Given the description of an element on the screen output the (x, y) to click on. 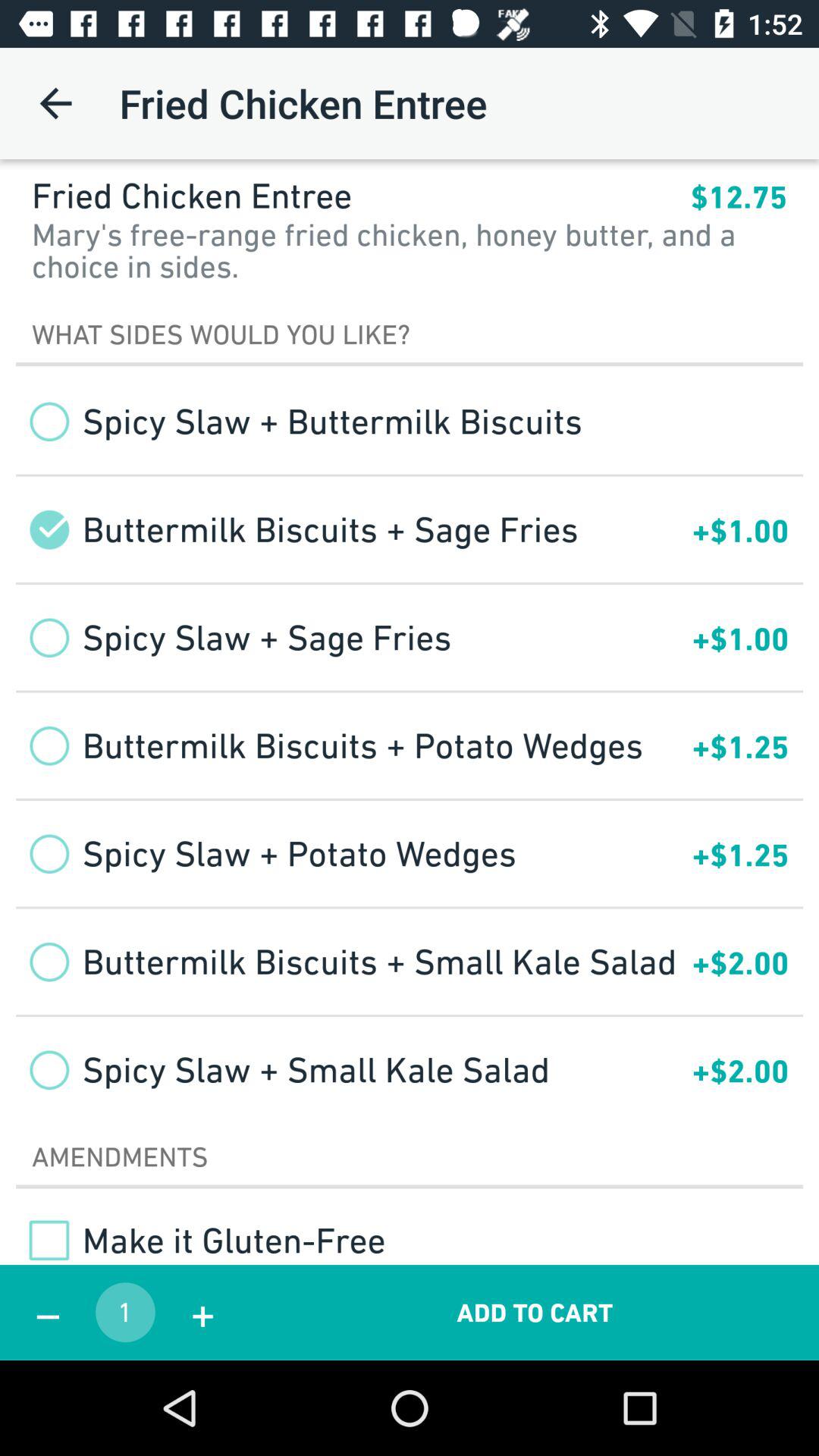
choose the make it gluten checkbox (200, 1239)
